Given the description of an element on the screen output the (x, y) to click on. 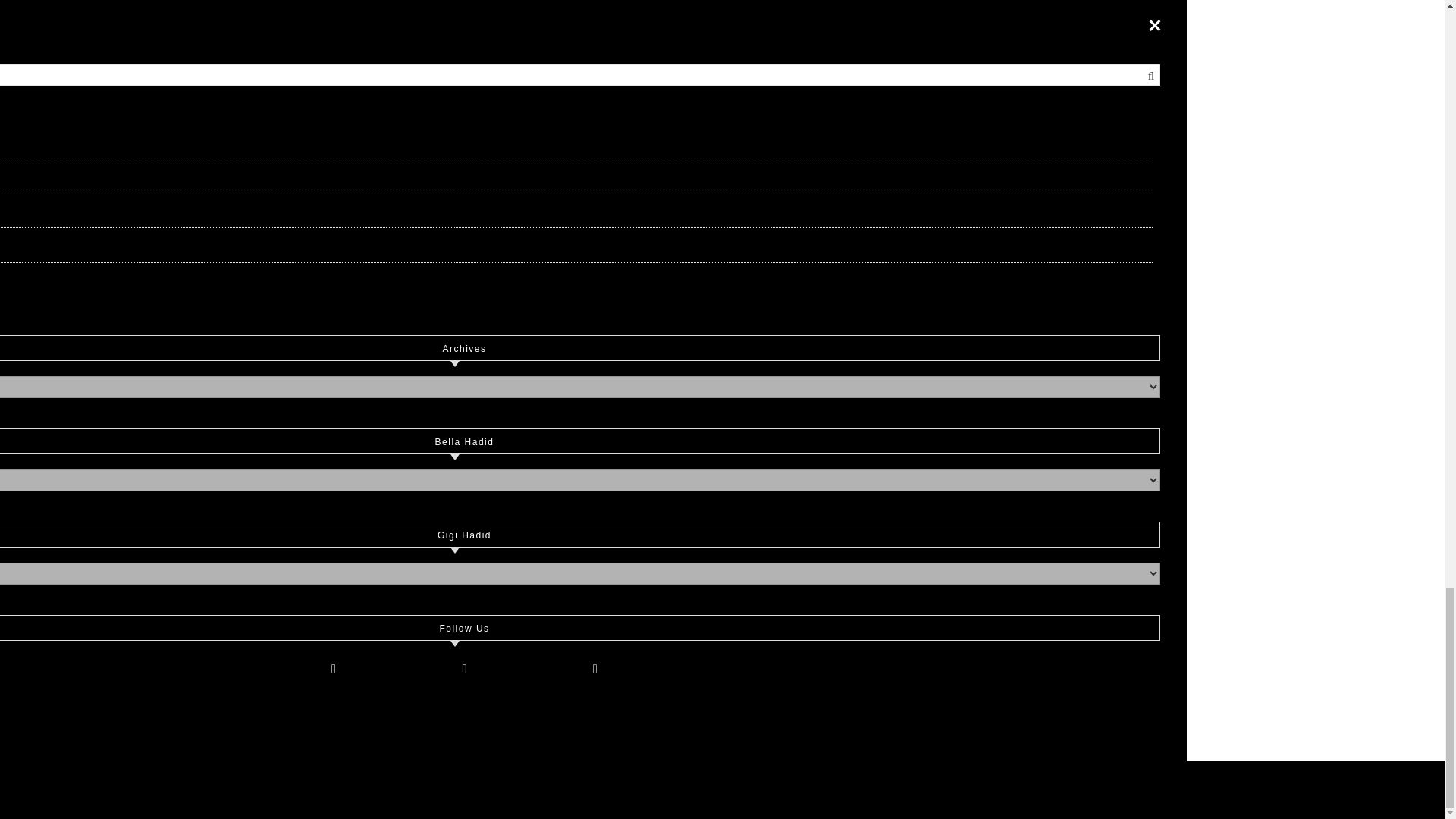
1 (317, 604)
subscribe (317, 665)
subscribe (317, 634)
Post Comment (375, 703)
Post Comment (375, 703)
